Given the description of an element on the screen output the (x, y) to click on. 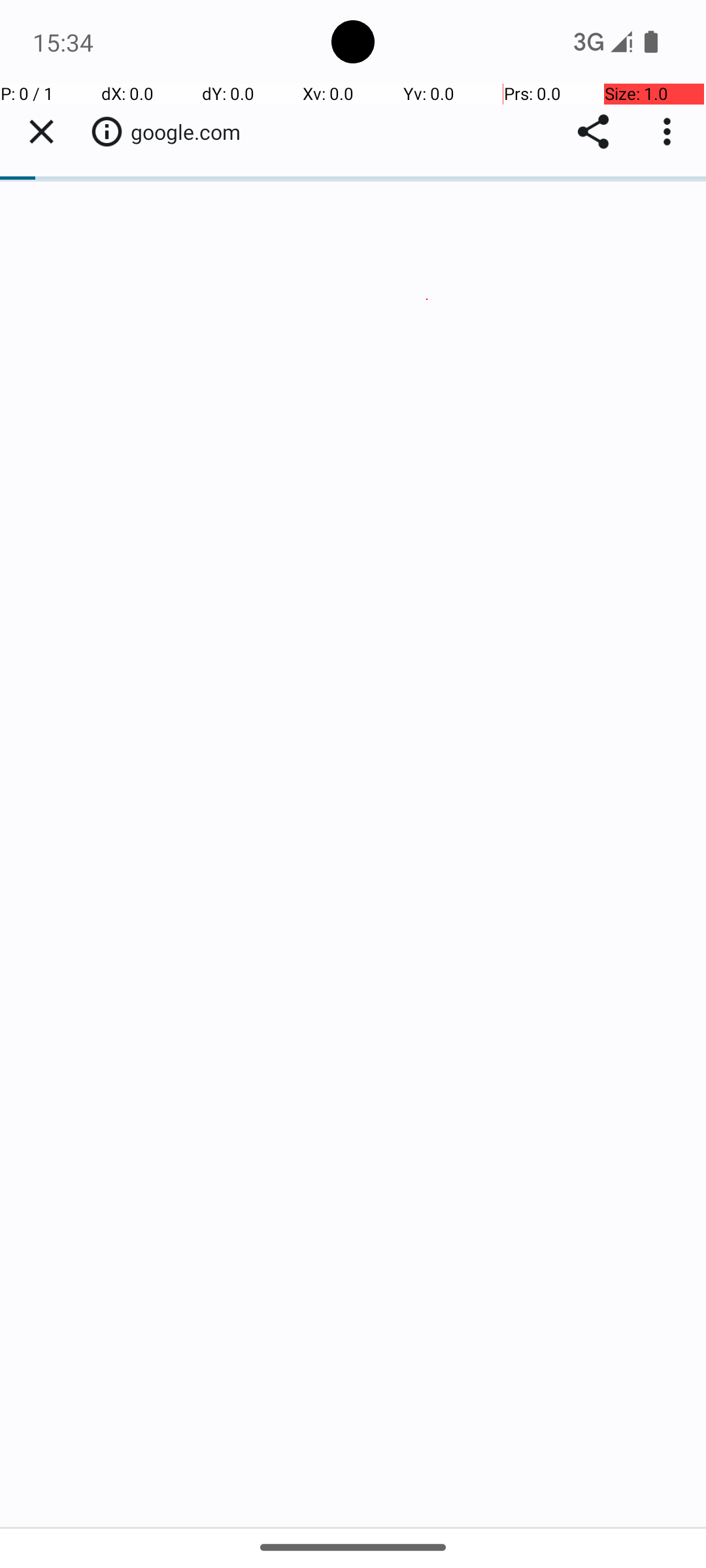
Web View Element type: android.widget.FrameLayout (353, 804)
Close tab Element type: android.widget.ImageButton (41, 131)
Your connection to this site is not secure Element type: android.widget.ImageButton (106, 131)
Share Element type: android.widget.ImageButton (593, 131)
google.com Element type: android.widget.TextView (192, 131)
